Given the description of an element on the screen output the (x, y) to click on. 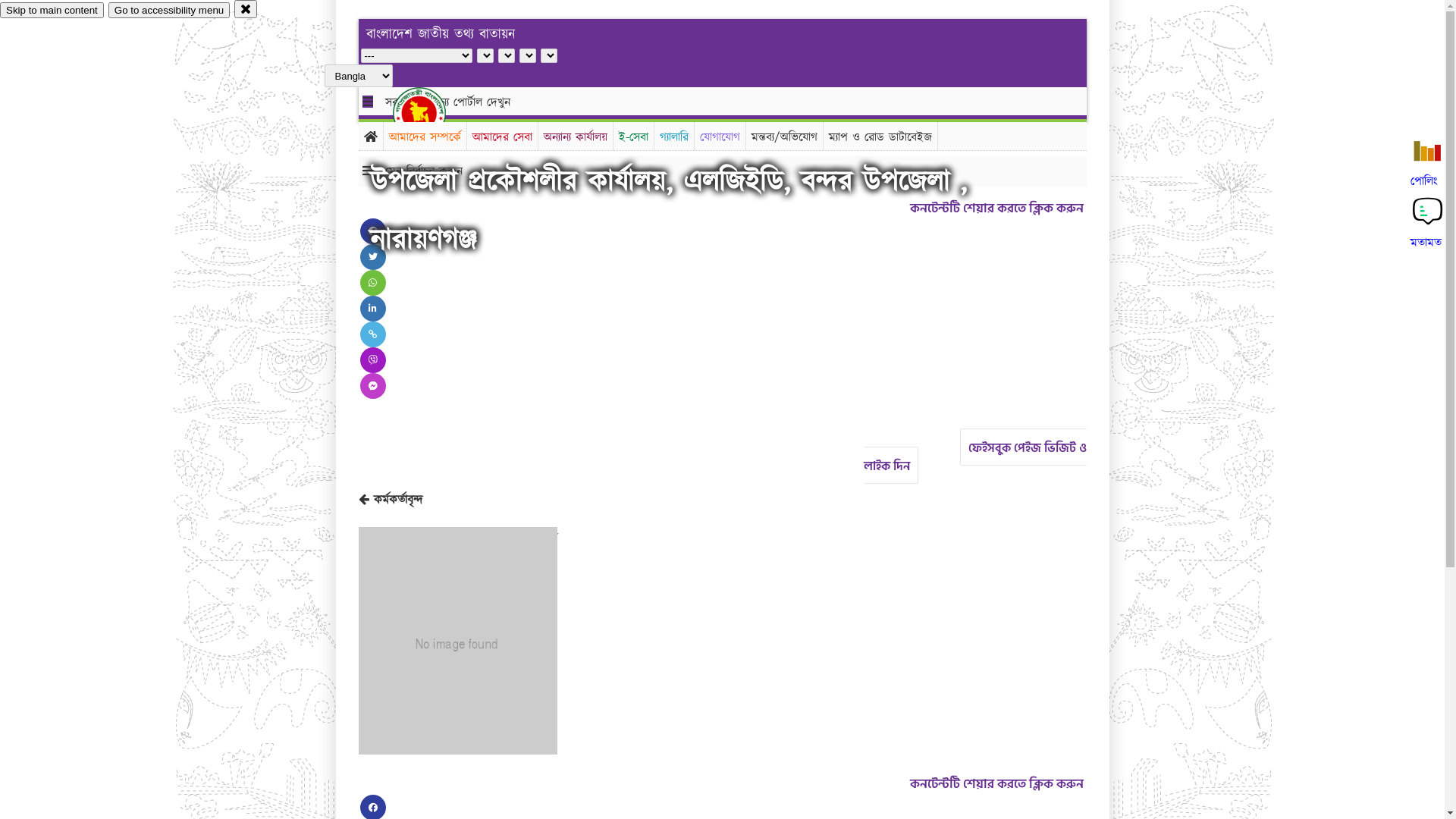

                
             Element type: hover (431, 112)
Skip to main content Element type: text (51, 10)
Go to accessibility menu Element type: text (168, 10)
close Element type: hover (245, 9)
